Given the description of an element on the screen output the (x, y) to click on. 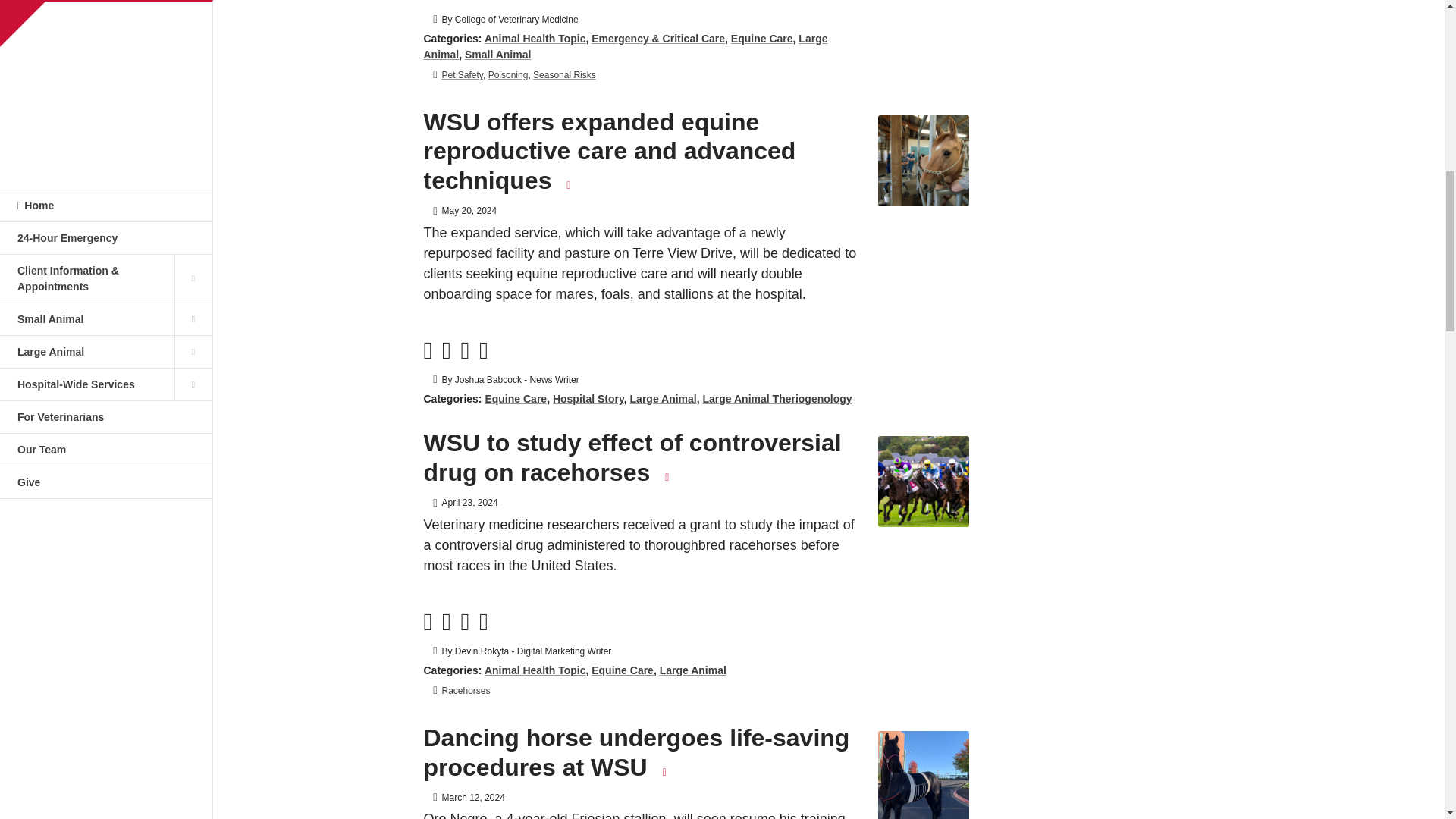
Share on Twitter (427, 2)
share with email (483, 2)
Share on FaceBook (446, 2)
Share on Linkedin (464, 2)
